Given the description of an element on the screen output the (x, y) to click on. 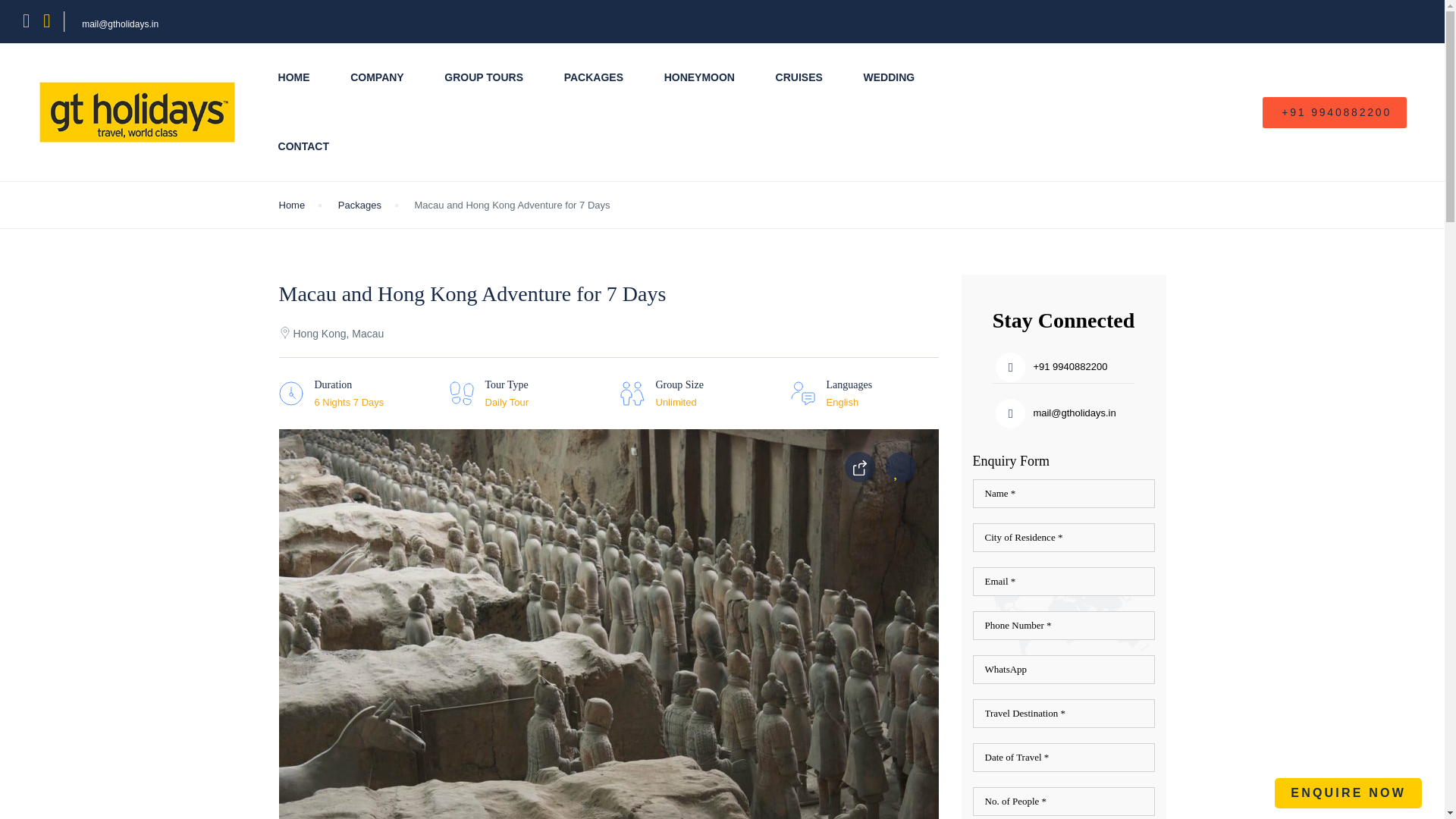
PACKAGES (593, 77)
GROUP TOURS (483, 77)
HOME (294, 77)
COMPANY (377, 77)
